Given the description of an element on the screen output the (x, y) to click on. 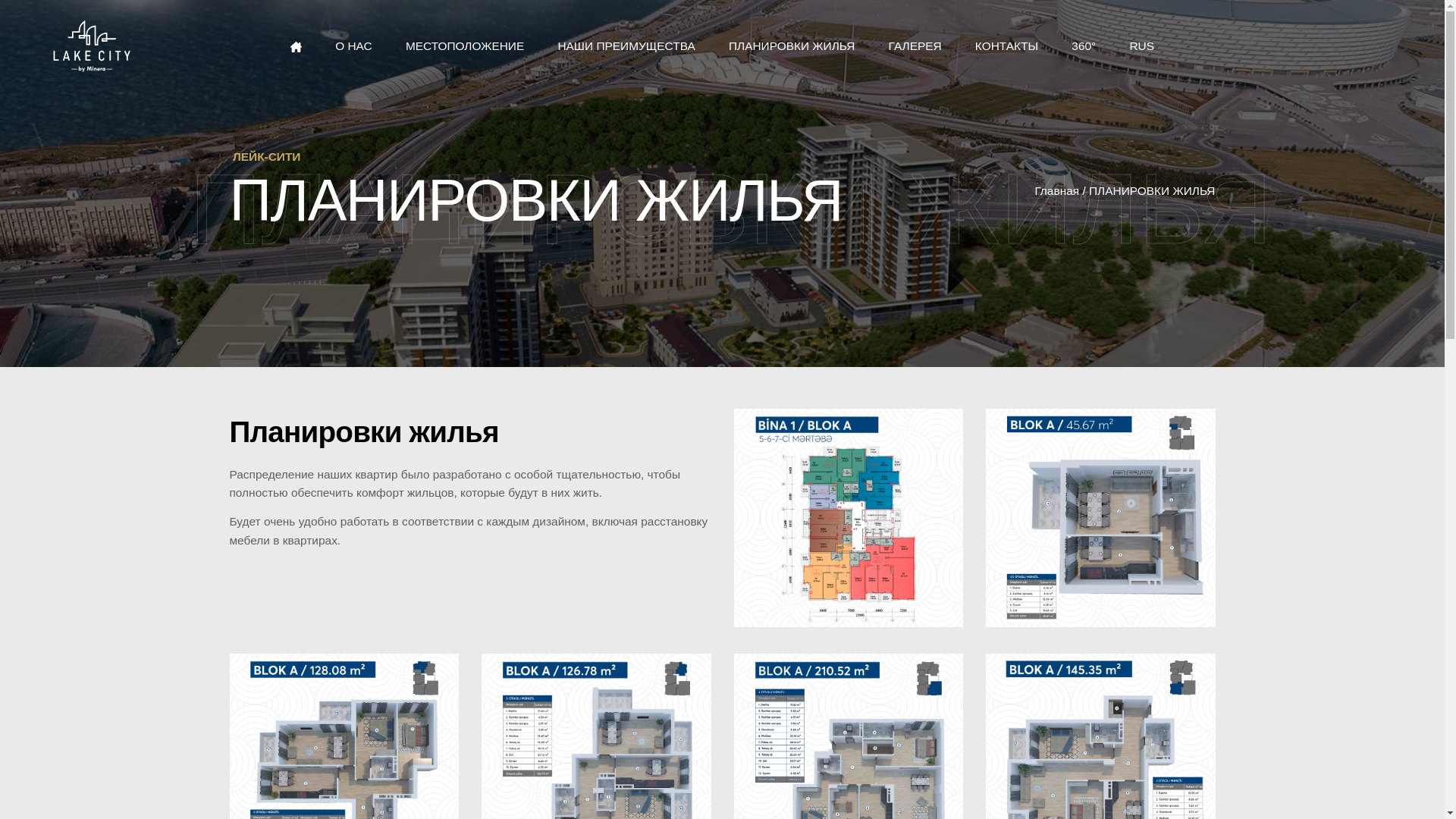
RUS Element type: text (1141, 45)
